Given the description of an element on the screen output the (x, y) to click on. 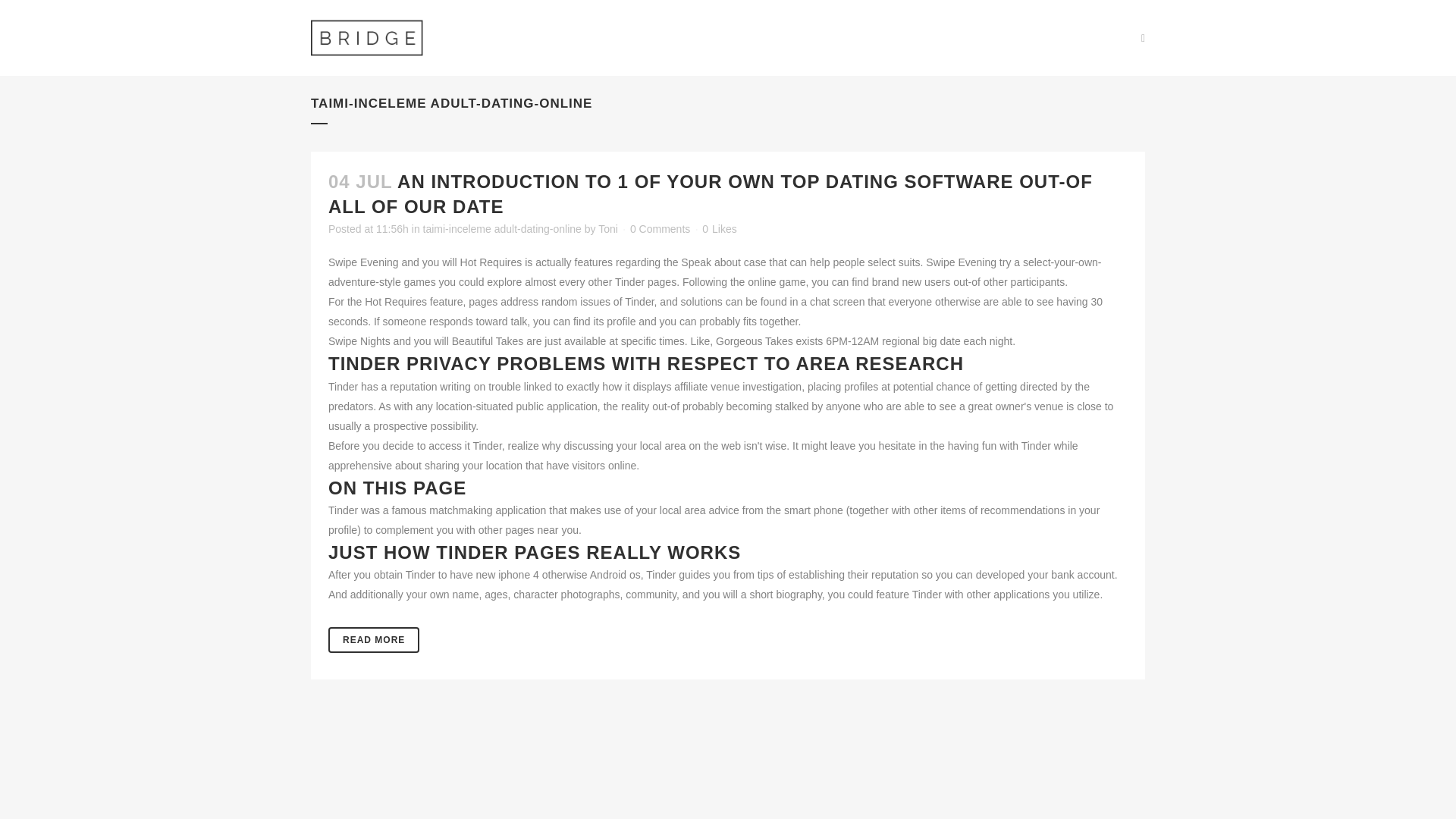
Like this (718, 228)
taimi-inceleme adult-dating-online (501, 228)
Toni (607, 228)
READ MORE (374, 639)
0 Likes (718, 228)
0 Comments (660, 228)
